Given the description of an element on the screen output the (x, y) to click on. 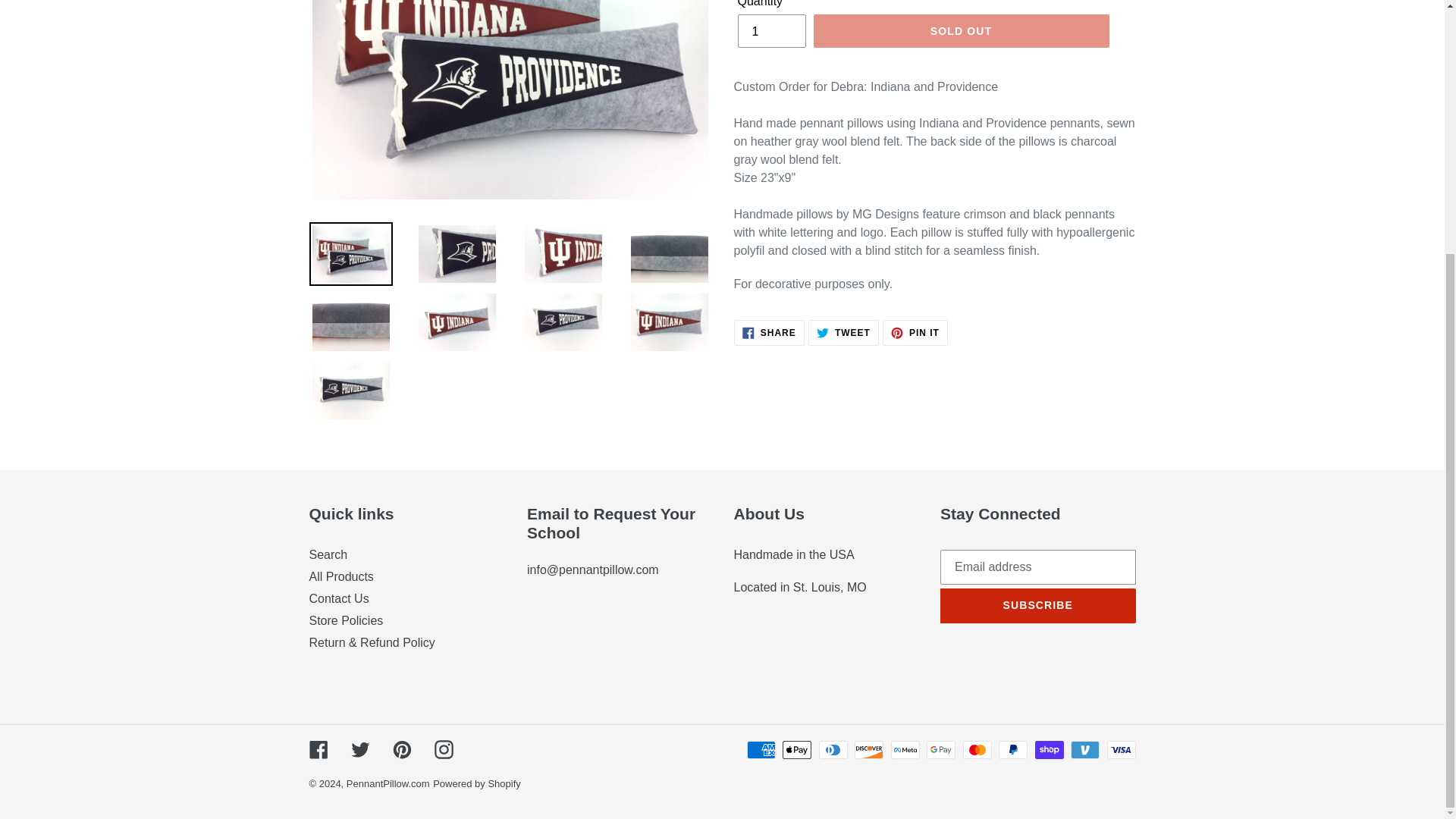
SUBSCRIBE (914, 332)
Contact Us (1037, 605)
Pinterest (338, 598)
Instagram (402, 749)
1 (769, 332)
PennantPillow.com (442, 749)
Store Policies (770, 30)
